Given the description of an element on the screen output the (x, y) to click on. 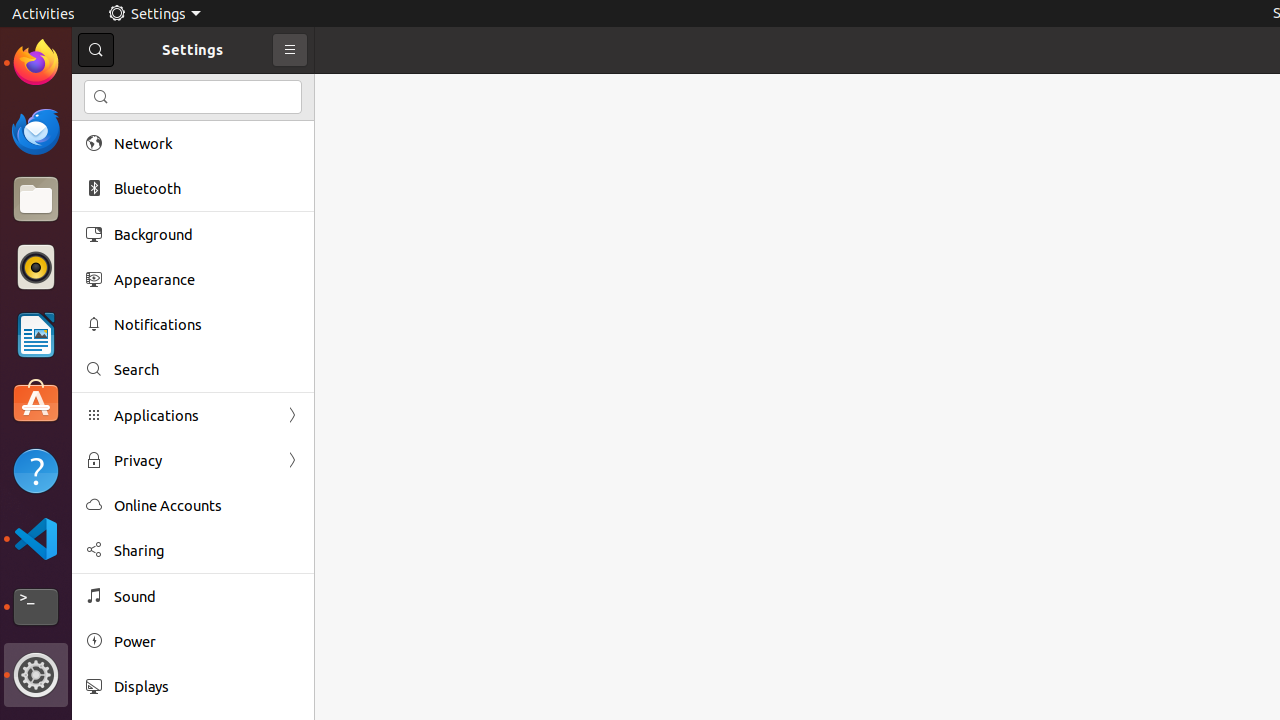
Notifications Element type: label (207, 324)
Online Accounts Element type: label (207, 505)
IsaHelpMain.desktop Element type: label (133, 300)
